Given the description of an element on the screen output the (x, y) to click on. 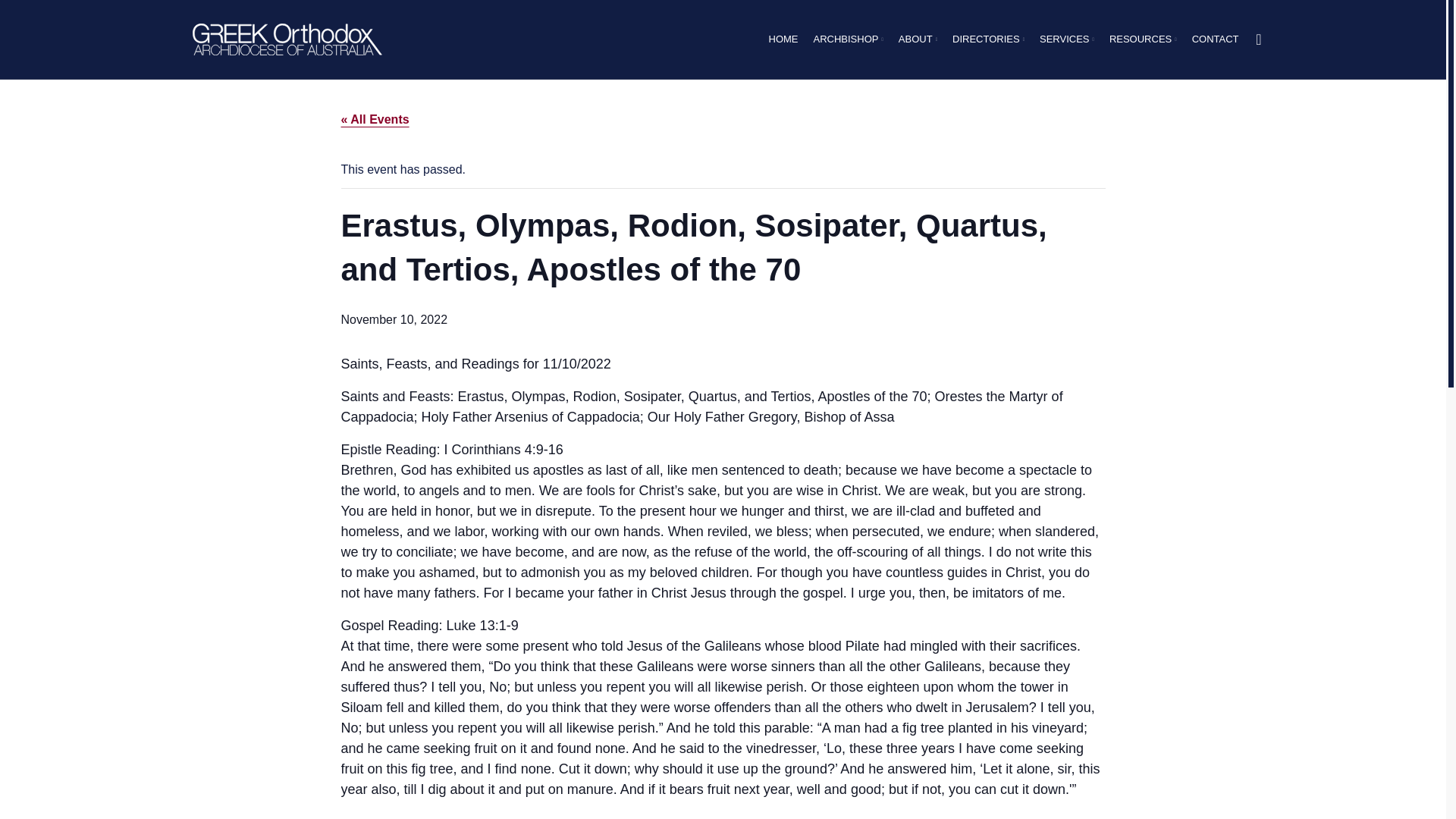
ABOUT (917, 39)
DIRECTORIES (988, 39)
HOME (782, 39)
SERVICES (1066, 39)
ARCHBISHOP (847, 39)
CONTACT (1215, 39)
RESOURCES (1142, 39)
